Given the description of an element on the screen output the (x, y) to click on. 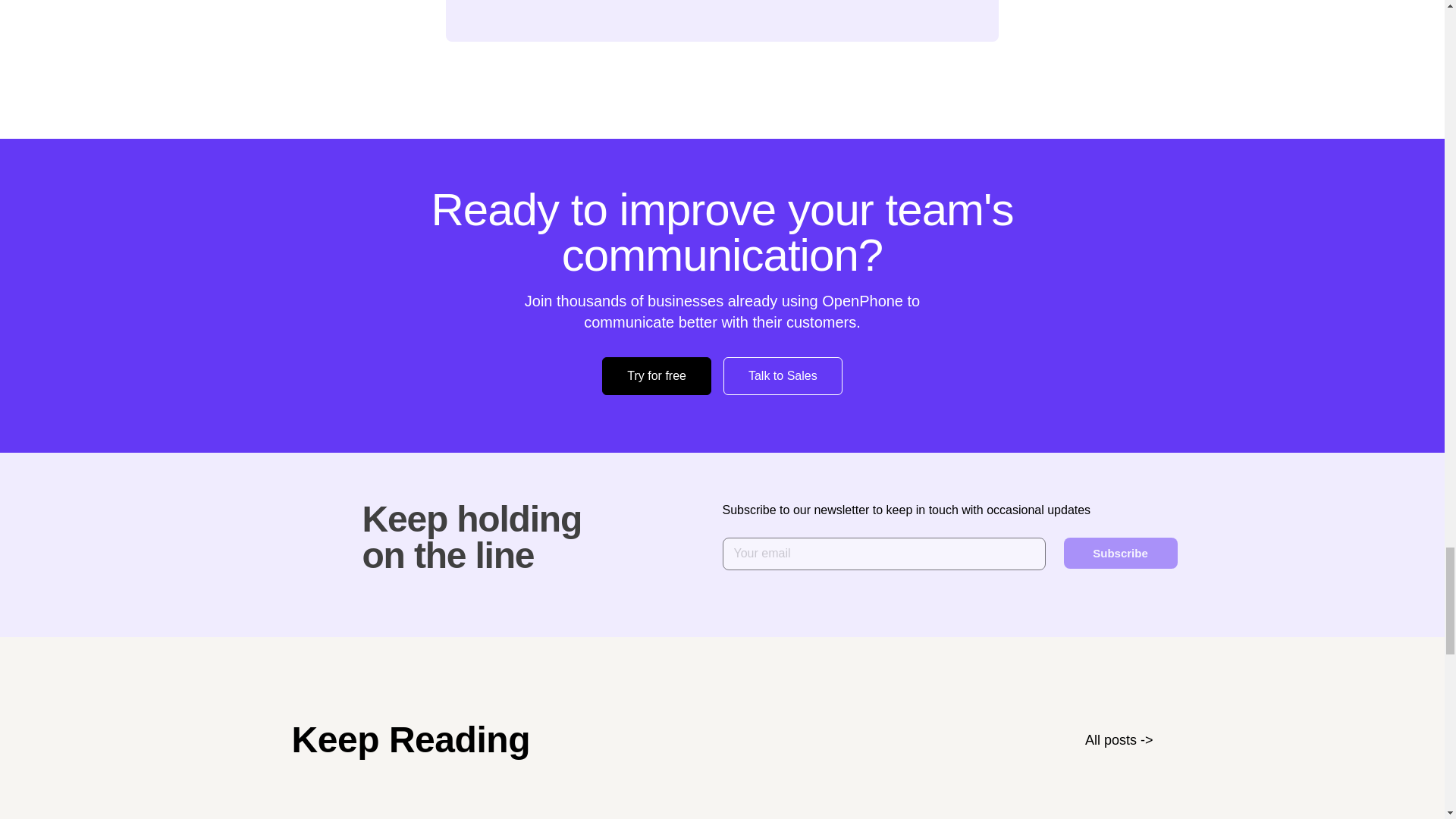
Group-627400-1 (298, 532)
Subscribe (1119, 552)
Try for free (656, 375)
Talk to Sales (783, 375)
